Given the description of an element on the screen output the (x, y) to click on. 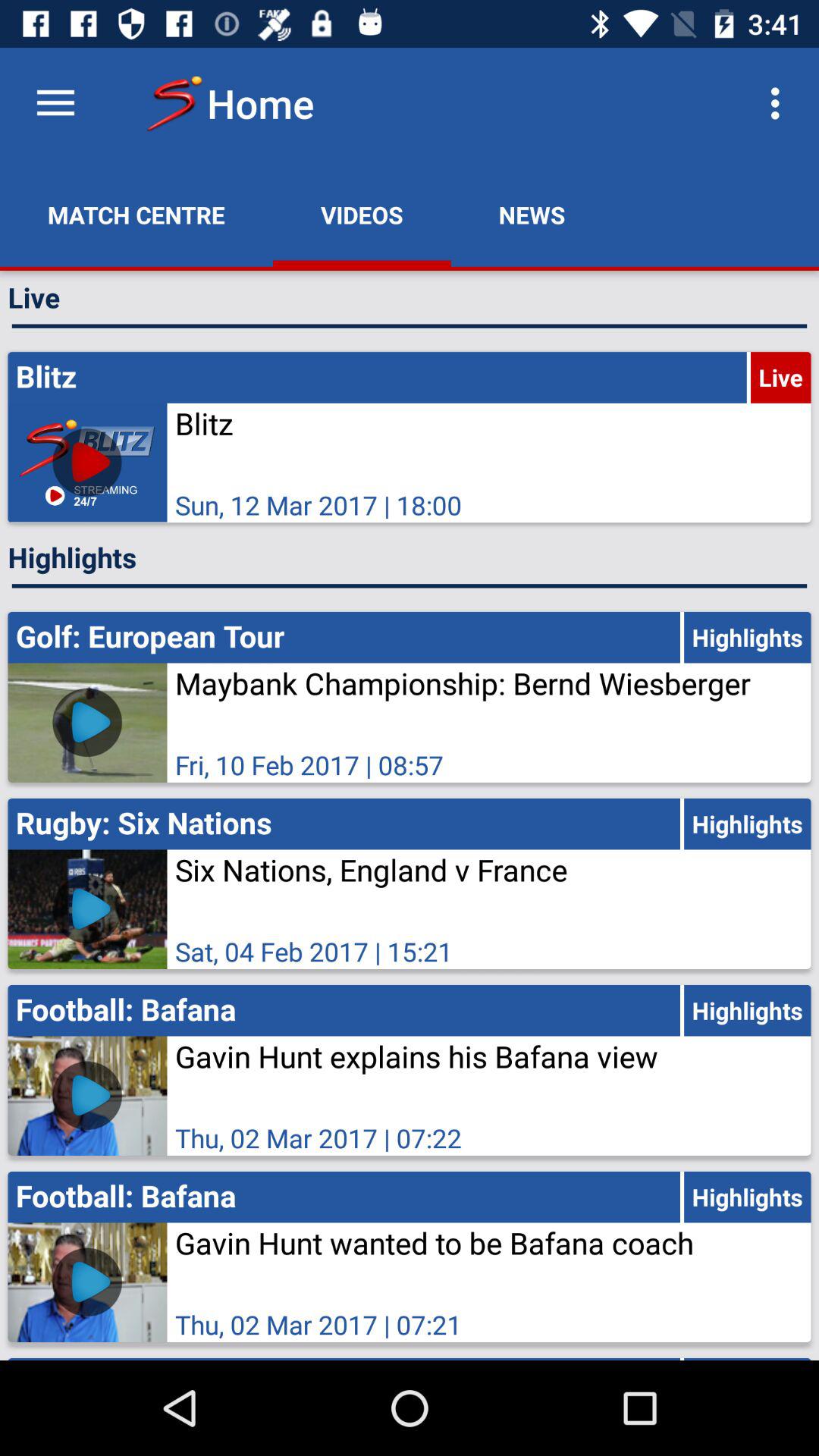
turn on app next to match centre app (362, 214)
